Given the description of an element on the screen output the (x, y) to click on. 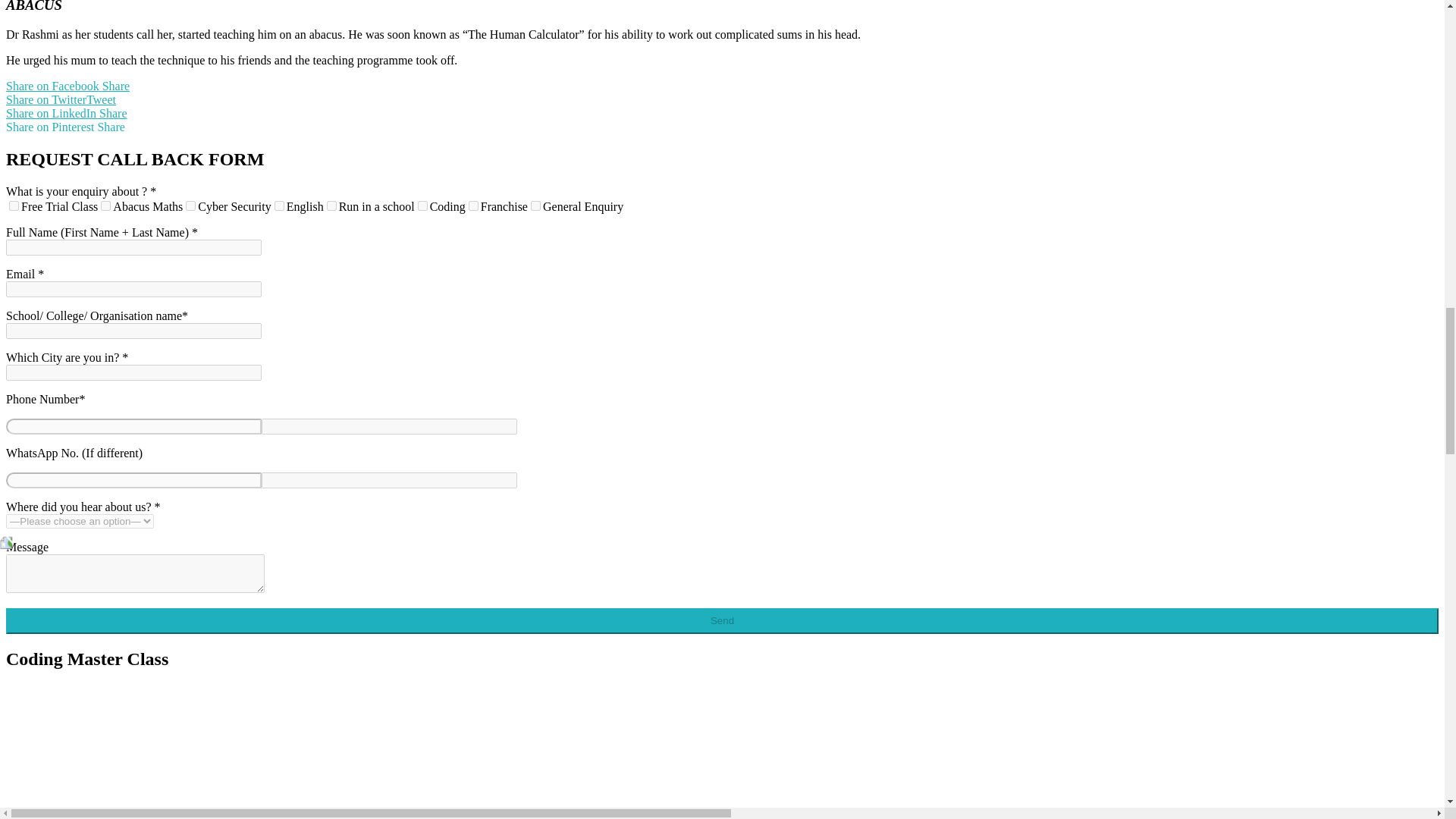
Coding (422, 205)
Free Trial Class (13, 205)
Send (721, 620)
YouTube video player (118, 741)
Franchise (473, 205)
Abacus Maths (105, 205)
Cyber Security (190, 205)
General Enquiry (535, 205)
English (279, 205)
Run in a school (331, 205)
